Given the description of an element on the screen output the (x, y) to click on. 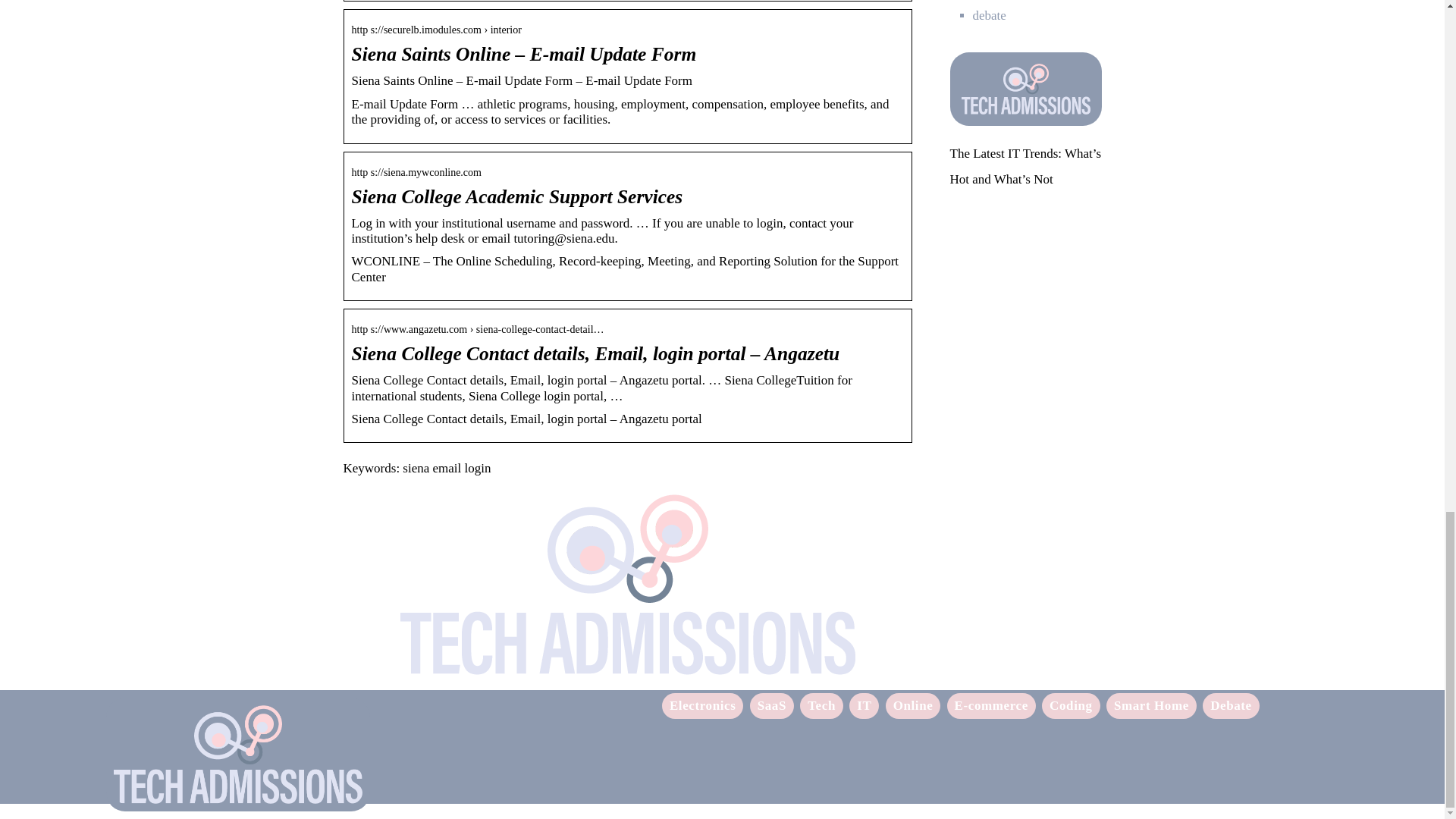
IT (863, 705)
Electronics (702, 705)
E-commerce (991, 705)
debate (989, 15)
Online (913, 705)
Coding (1071, 705)
Tech (821, 705)
SaaS (771, 705)
